Given the description of an element on the screen output the (x, y) to click on. 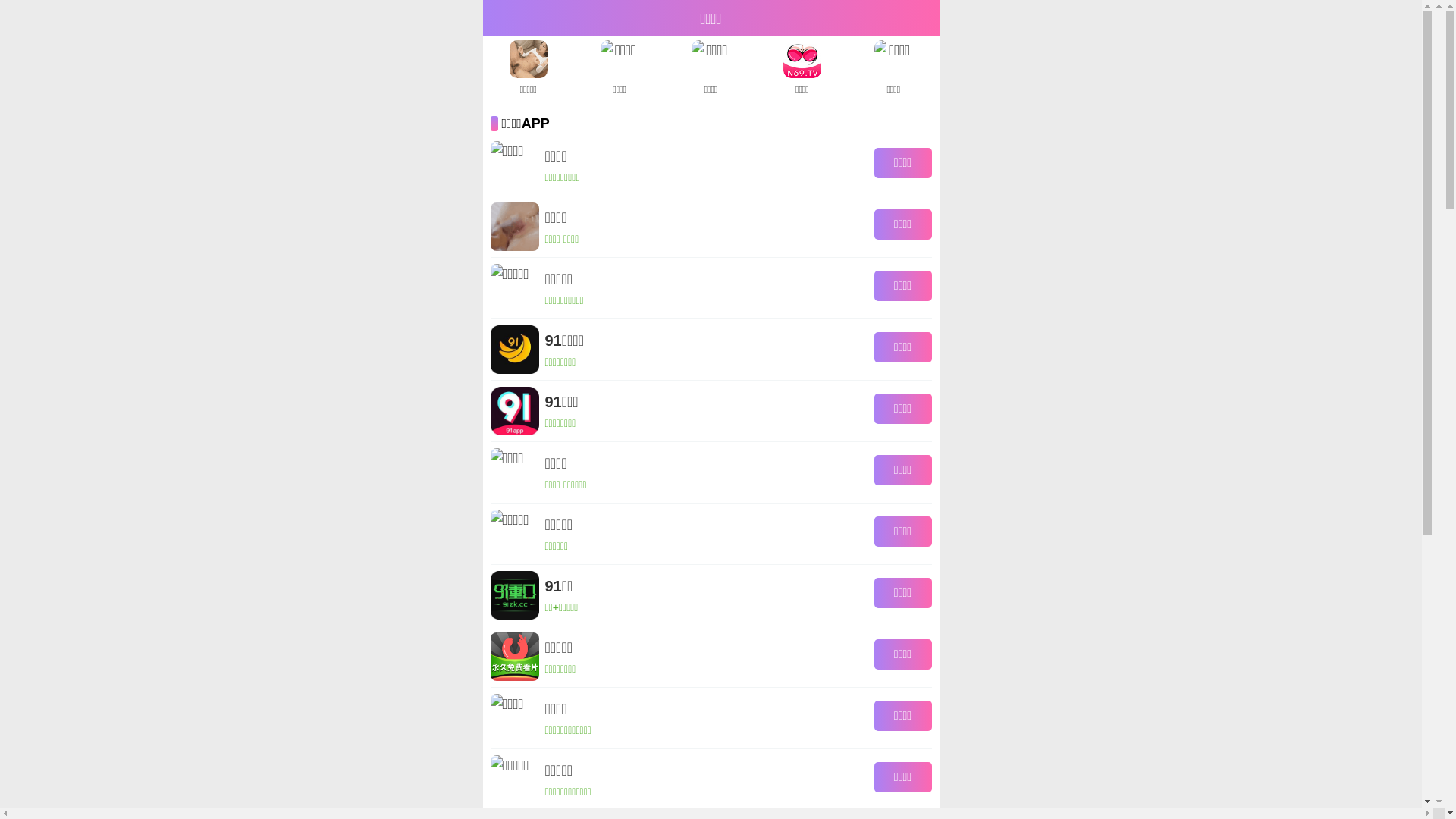
XML Element type: text (1192, 12)
HTML Element type: text (1157, 12)
